Given the description of an element on the screen output the (x, y) to click on. 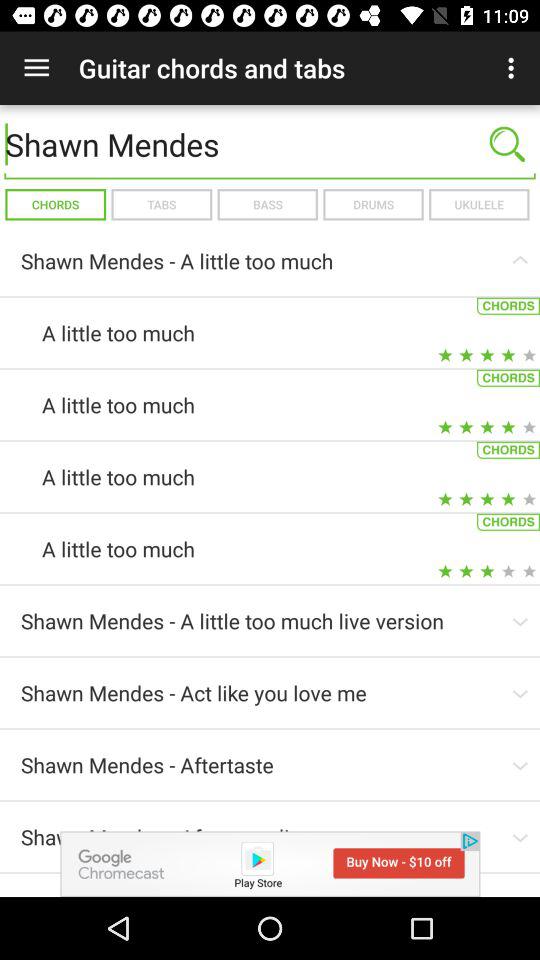
turn on the icon next to drums icon (267, 204)
